Given the description of an element on the screen output the (x, y) to click on. 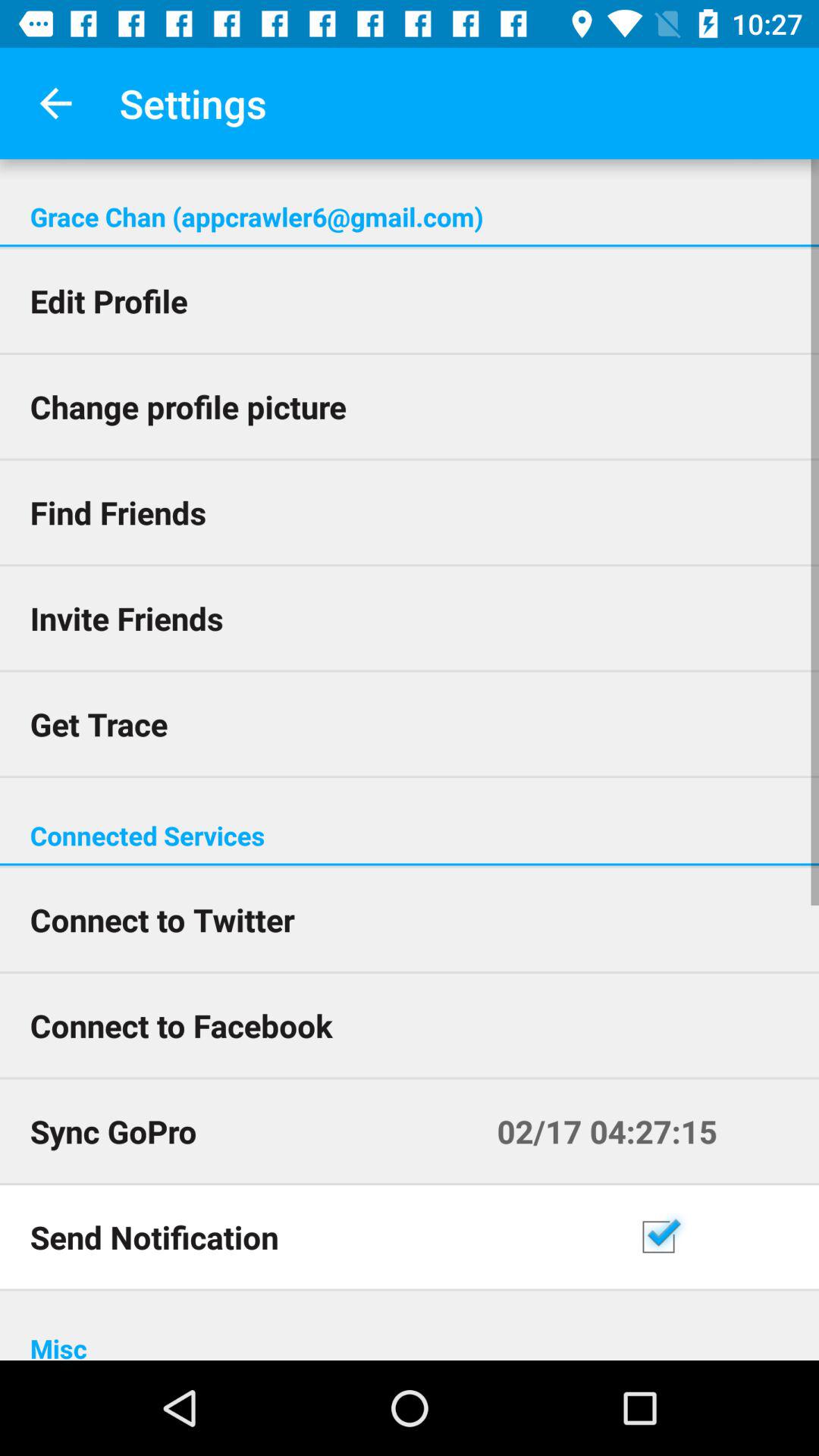
turn on item above edit profile (409, 245)
